Given the description of an element on the screen output the (x, y) to click on. 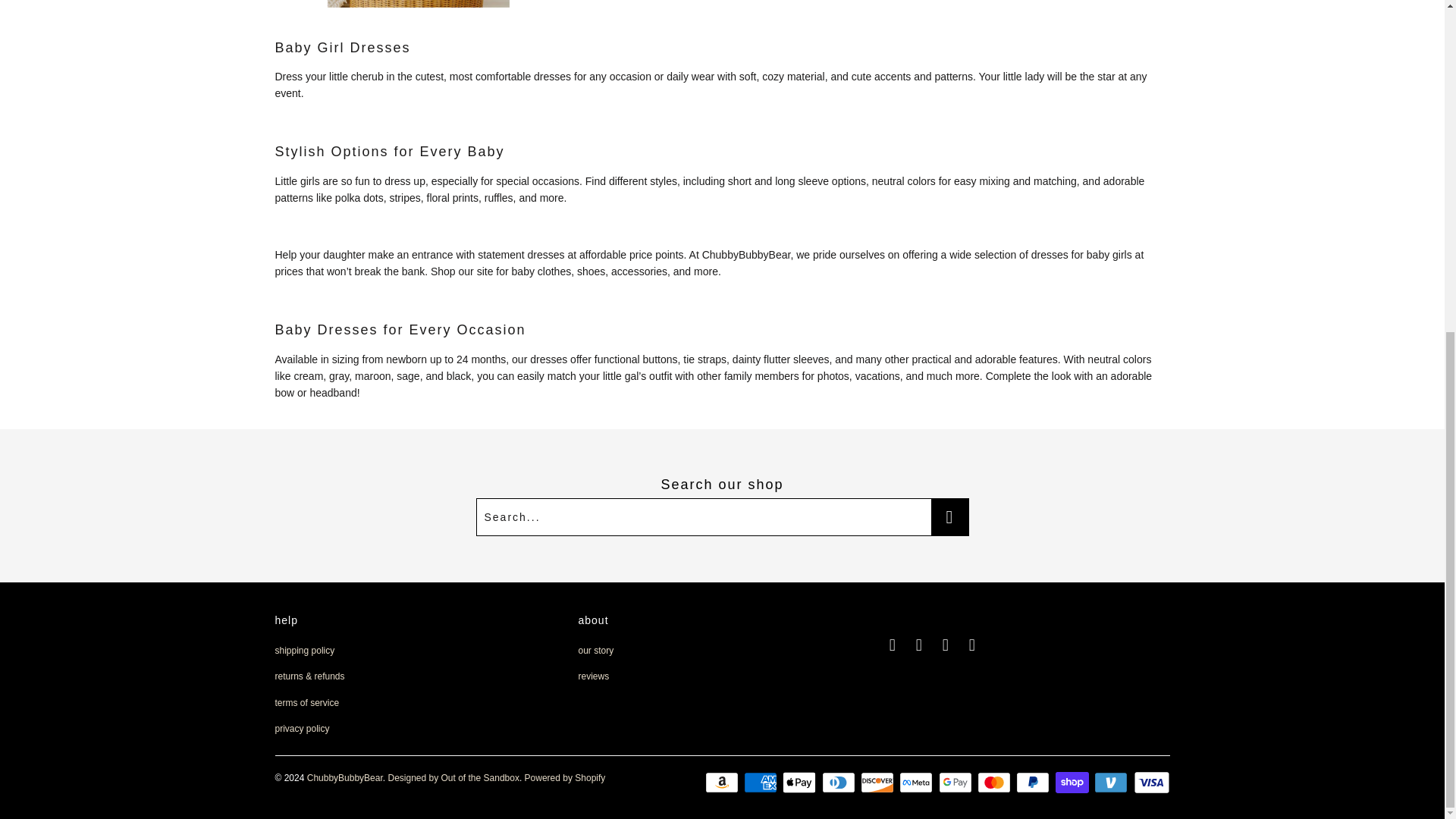
Shop Pay (1073, 782)
Apple Pay (800, 782)
PayPal (1034, 782)
ChubbyBubbyBear on Facebook (892, 645)
ChubbyBubbyBear on Instagram (919, 645)
Discover (878, 782)
Amazon (722, 782)
Venmo (1112, 782)
American Express (762, 782)
Mastercard (994, 782)
